Given the description of an element on the screen output the (x, y) to click on. 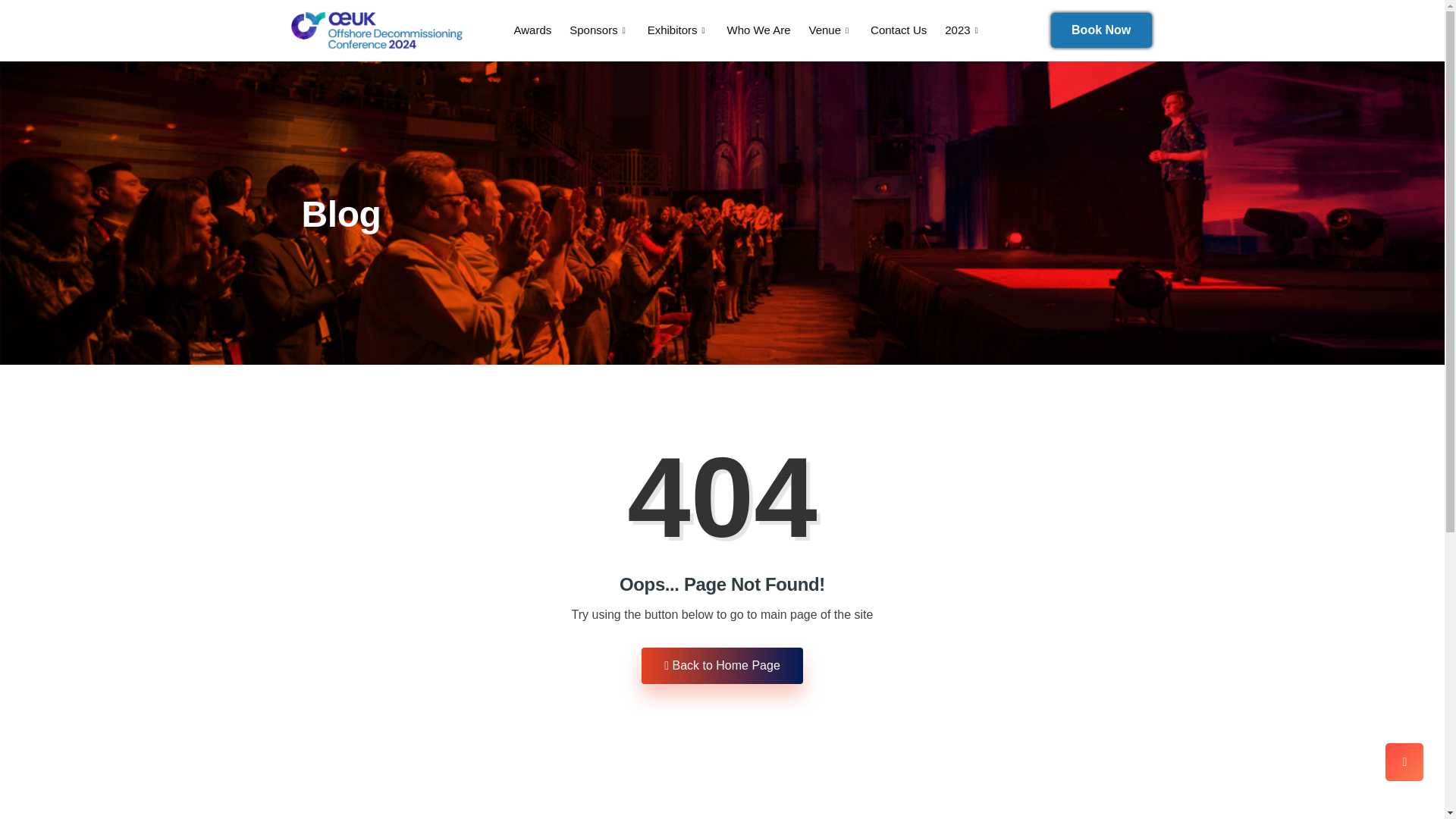
2023 (971, 30)
Back to Home Page (722, 665)
Awards (541, 30)
Contact Us (907, 30)
Book Now (1101, 30)
Who We Are (767, 30)
Sponsors (607, 30)
Venue (839, 30)
Exhibitors (686, 30)
